Given the description of an element on the screen output the (x, y) to click on. 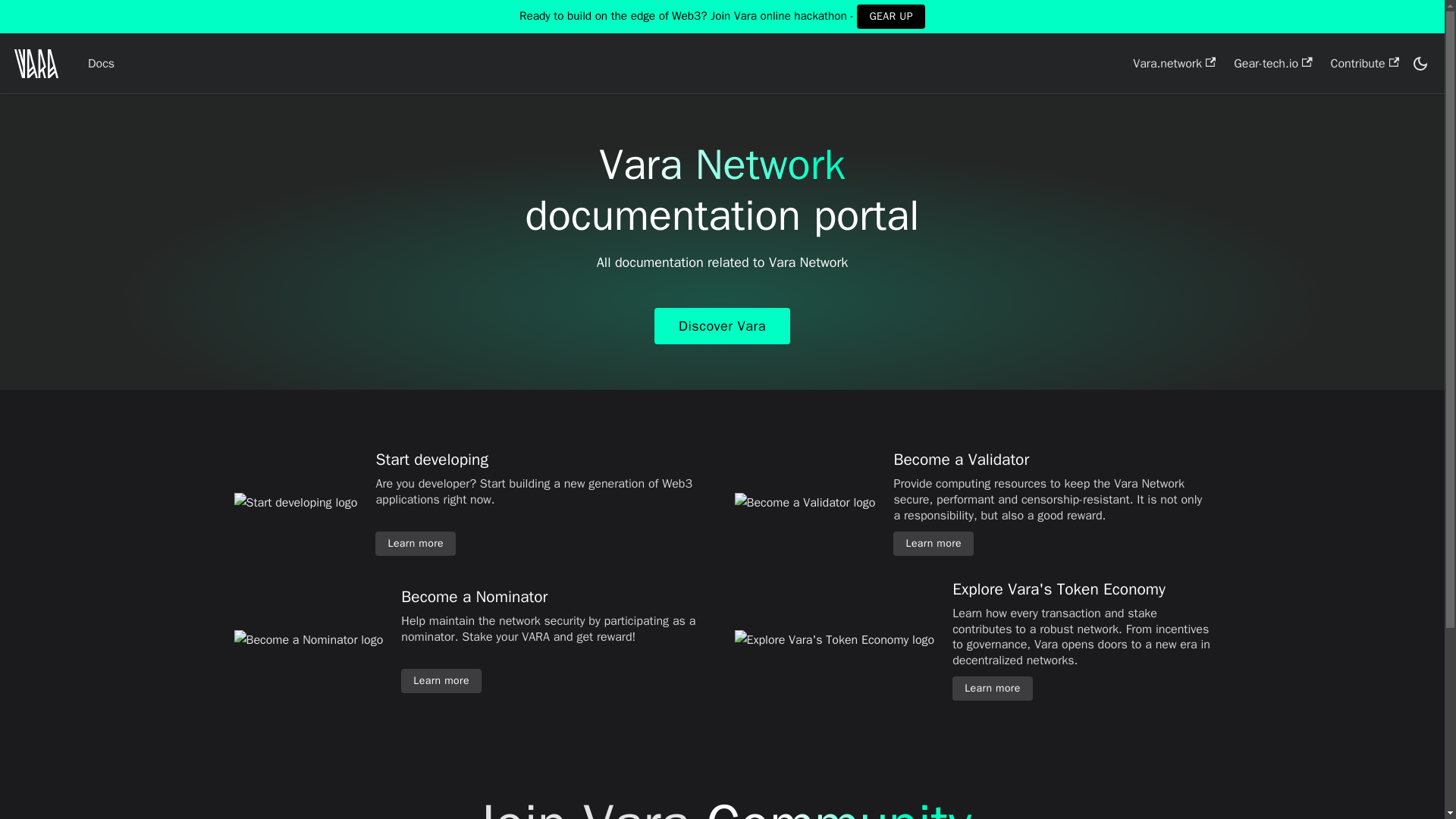
Learn more (992, 688)
Learn more (415, 543)
Gear-tech.io (1272, 63)
Docs (100, 63)
Discover Vara (721, 325)
Learn more (933, 543)
Vara.network (1174, 63)
Learn more (441, 680)
Contribute (1364, 63)
GEAR UP (890, 16)
